Given the description of an element on the screen output the (x, y) to click on. 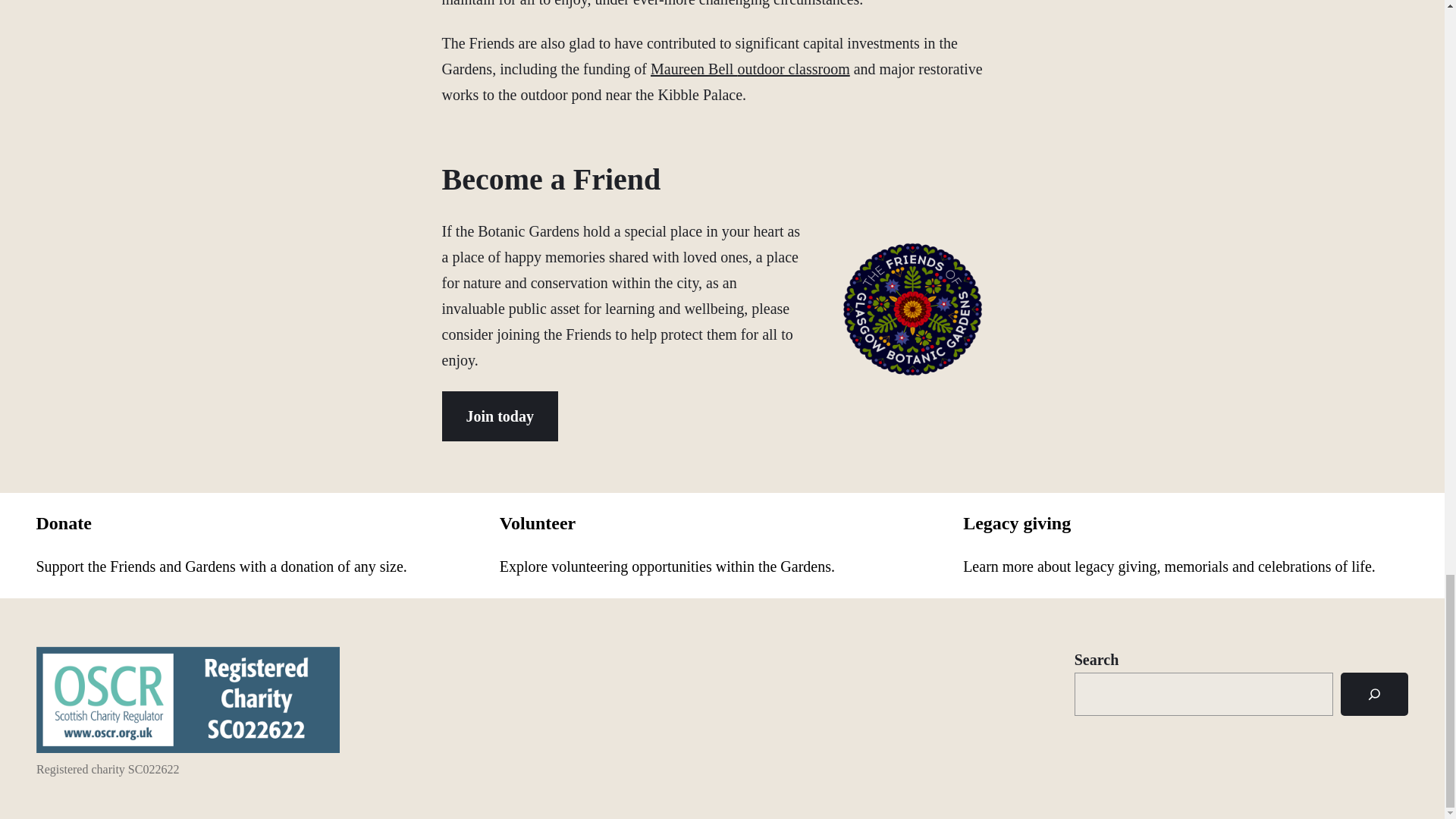
Join today (499, 416)
Maureen Bell (693, 68)
outdoor classroom (792, 68)
